Given the description of an element on the screen output the (x, y) to click on. 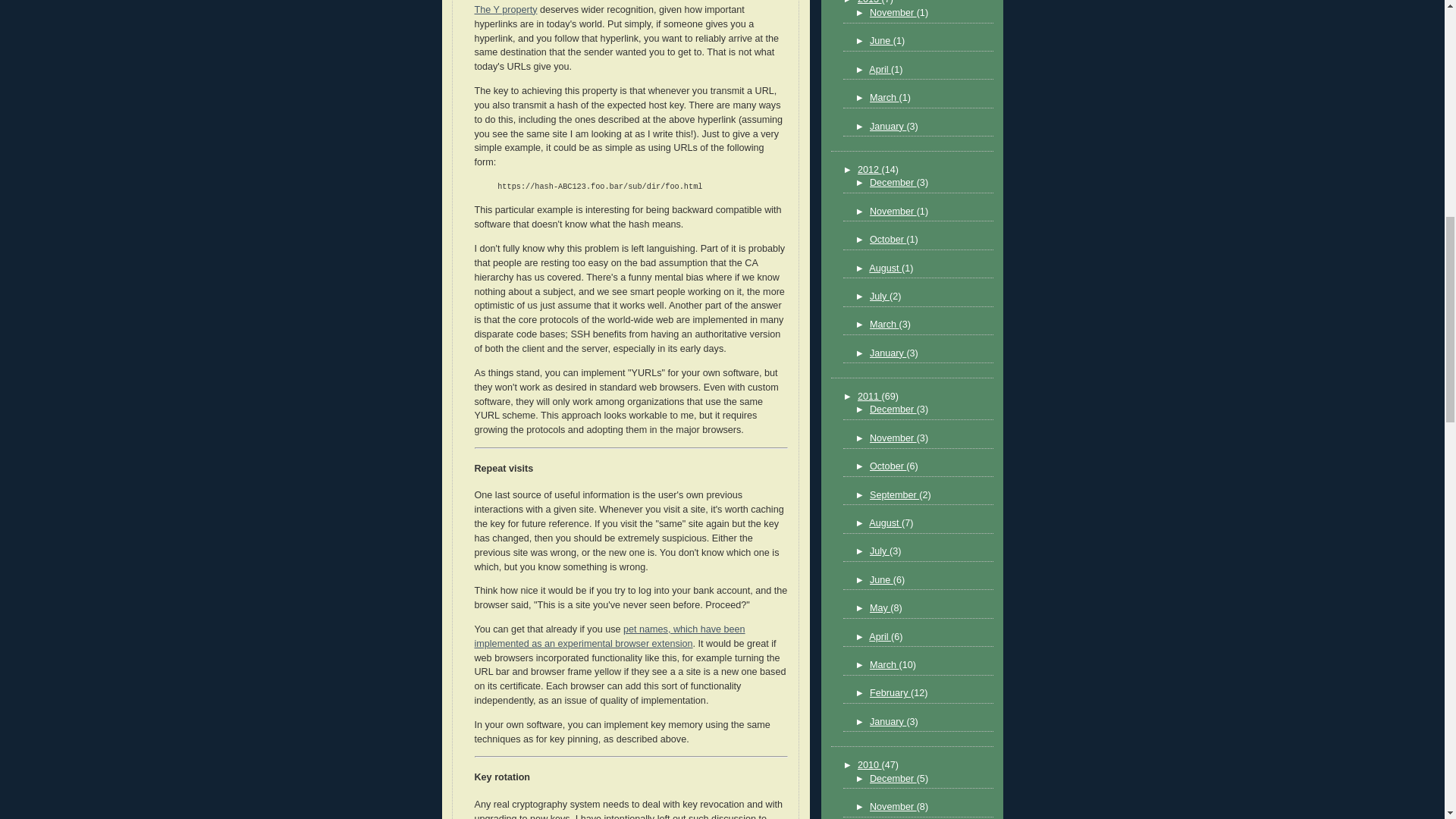
The Y property (505, 9)
